Given the description of an element on the screen output the (x, y) to click on. 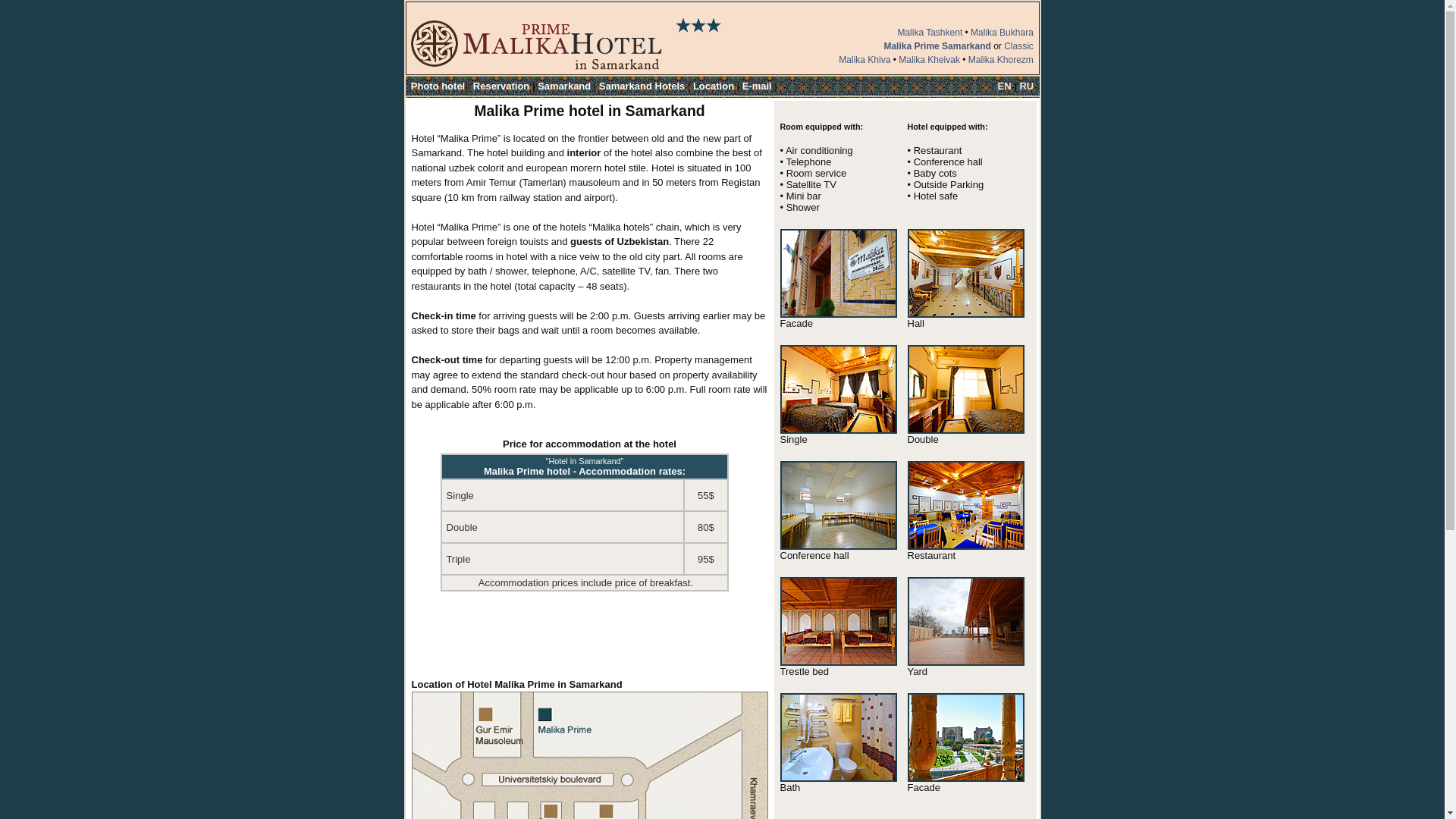
RU (1026, 85)
Photo hotel (437, 85)
Malika Prime Hotel in Samarkand (965, 778)
Malika Tashkent (929, 32)
Malika Khorezm (1000, 59)
E-mail (756, 85)
Classic (1018, 45)
Location (713, 85)
Learn more about this hotel via e-mail (756, 85)
Reservation (501, 85)
Samarkand Hotels (641, 85)
Samarkand (564, 85)
Malika Prime Samarkand (936, 45)
Malika Prime Hotel in Samarkand (965, 314)
Malika Prime Hotel in Samarkand (837, 314)
